Given the description of an element on the screen output the (x, y) to click on. 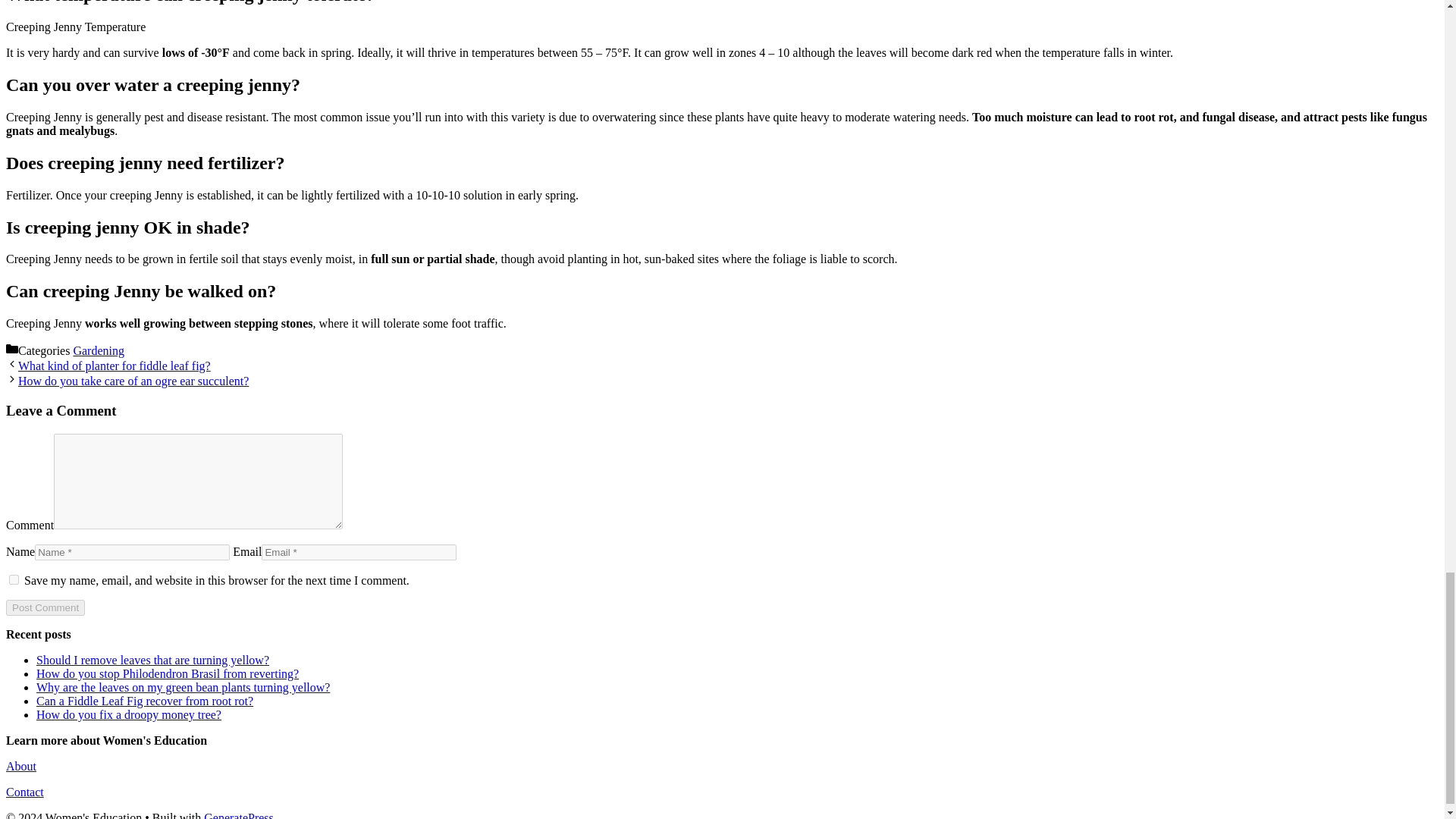
Post Comment (44, 607)
yes (13, 579)
